Given the description of an element on the screen output the (x, y) to click on. 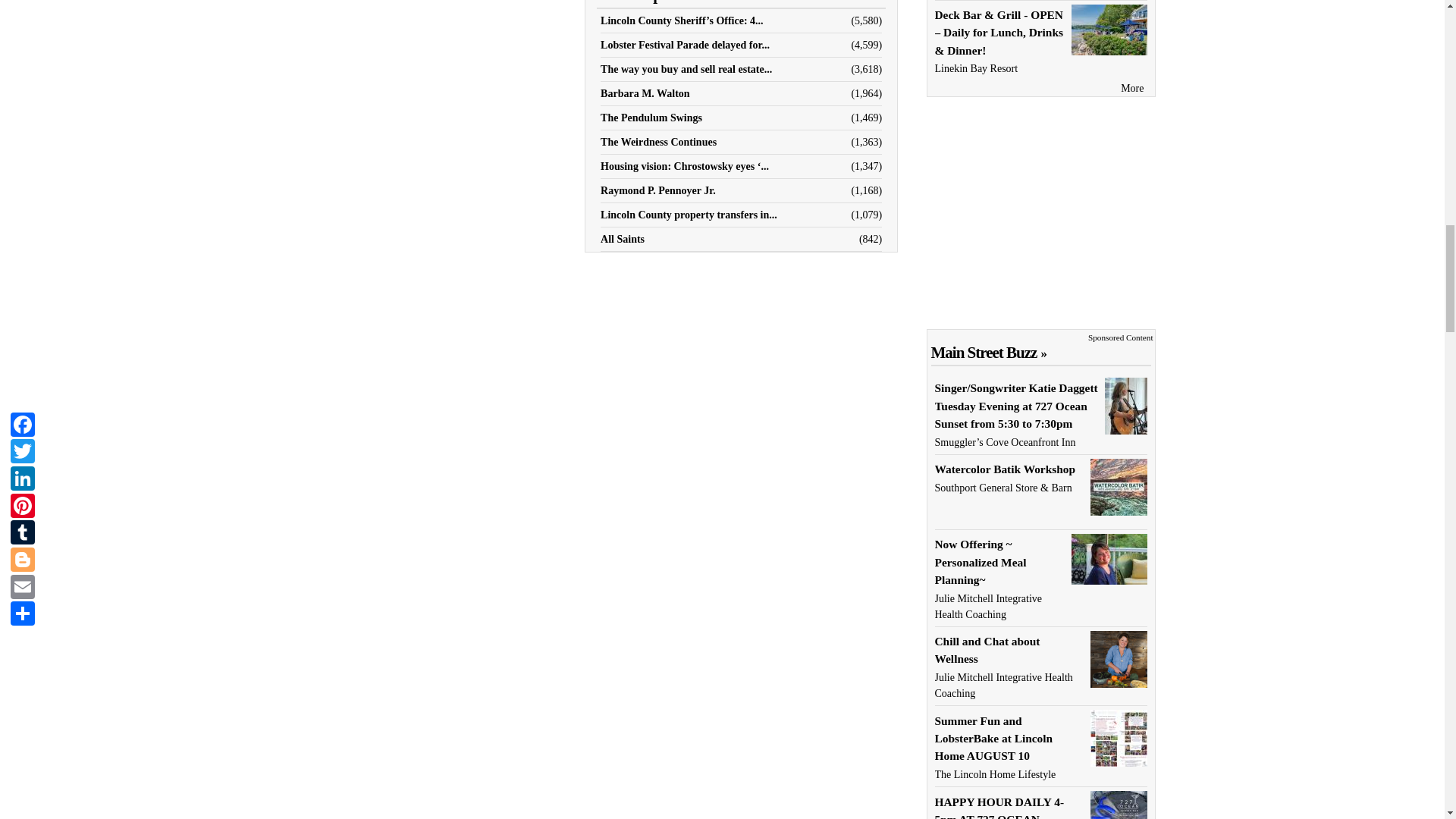
3rd party ad content (1040, 212)
